Given the description of an element on the screen output the (x, y) to click on. 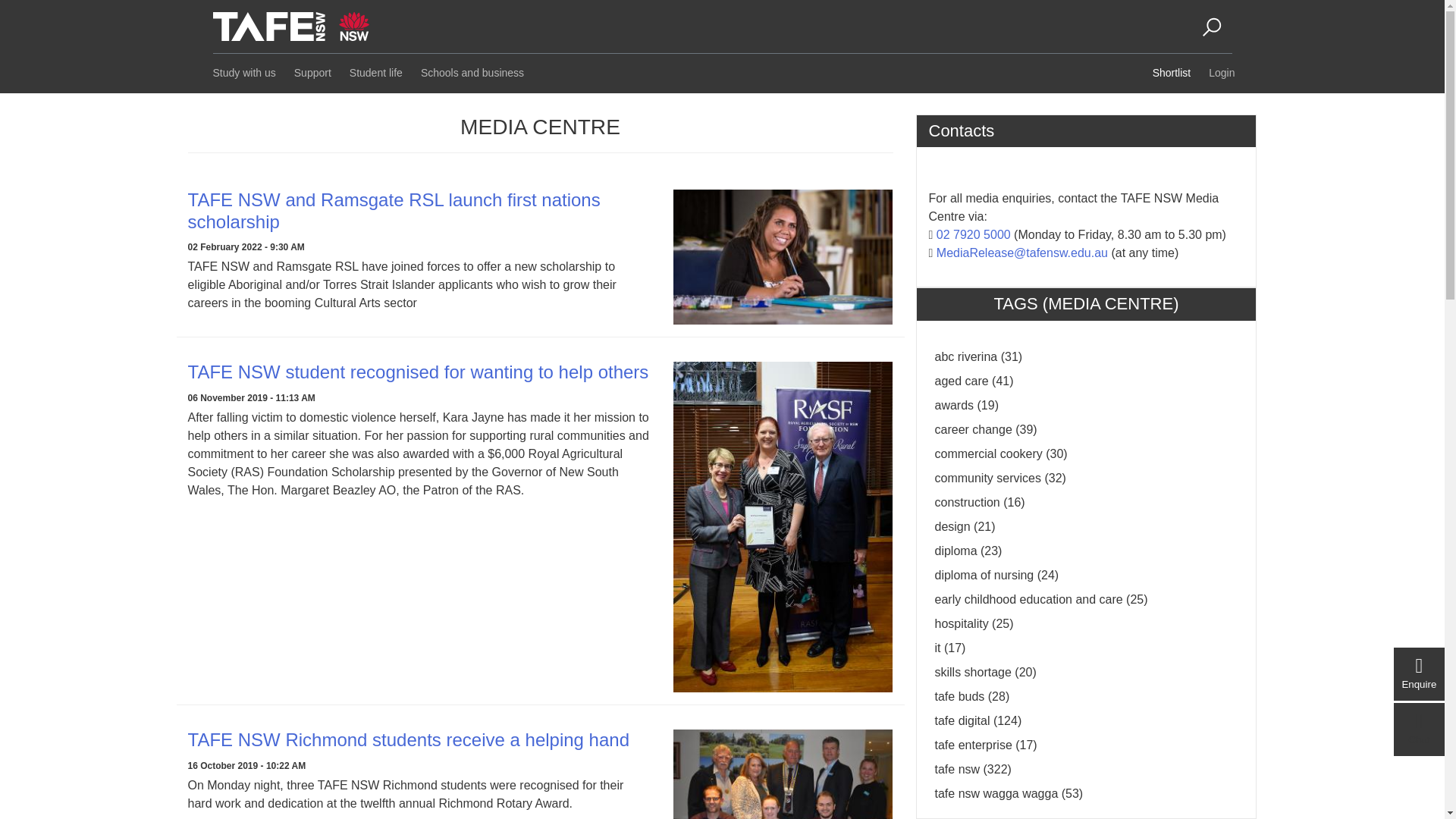
Study with us (241, 73)
